Given the description of an element on the screen output the (x, y) to click on. 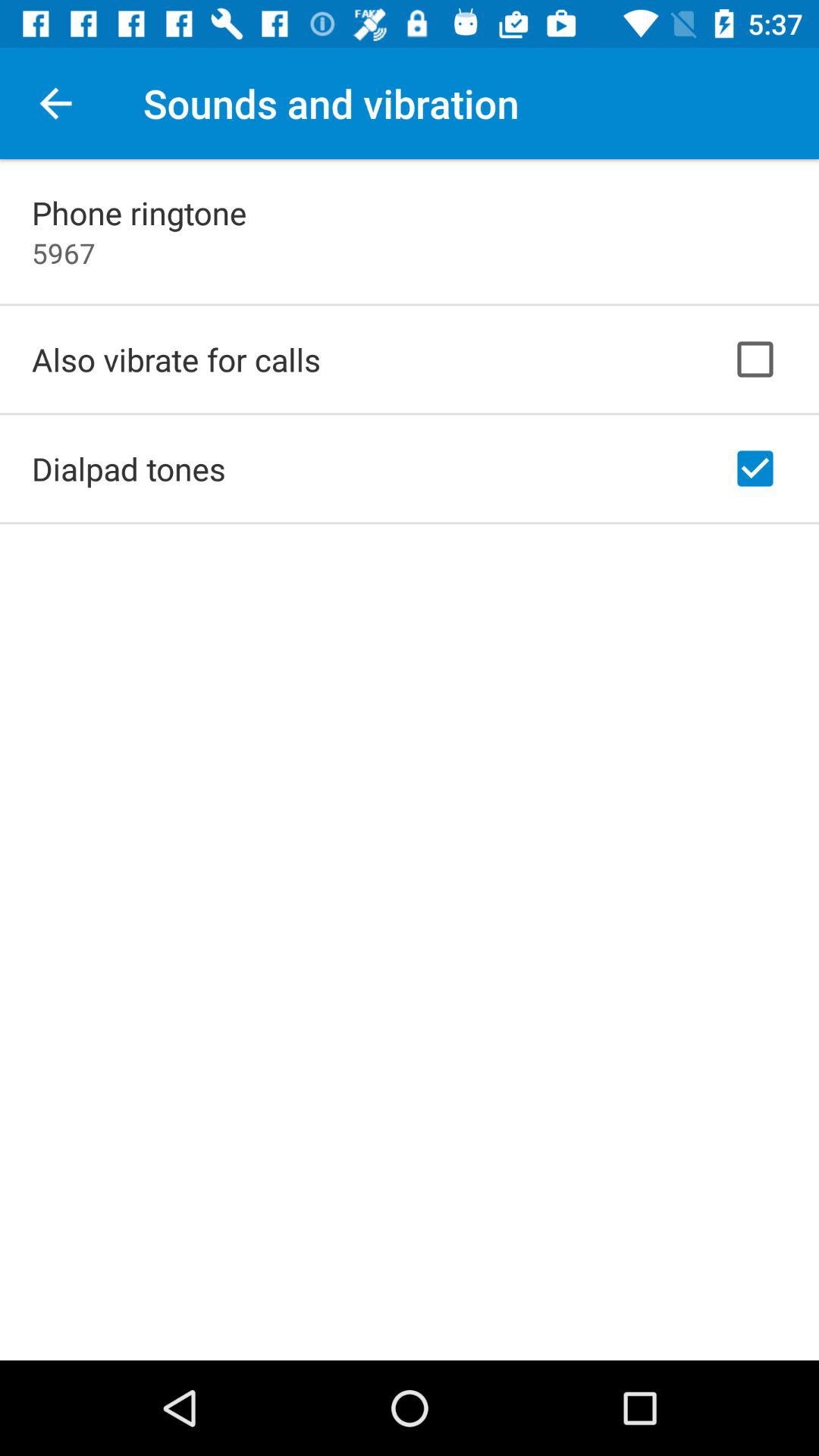
open app to the left of sounds and vibration (55, 103)
